Given the description of an element on the screen output the (x, y) to click on. 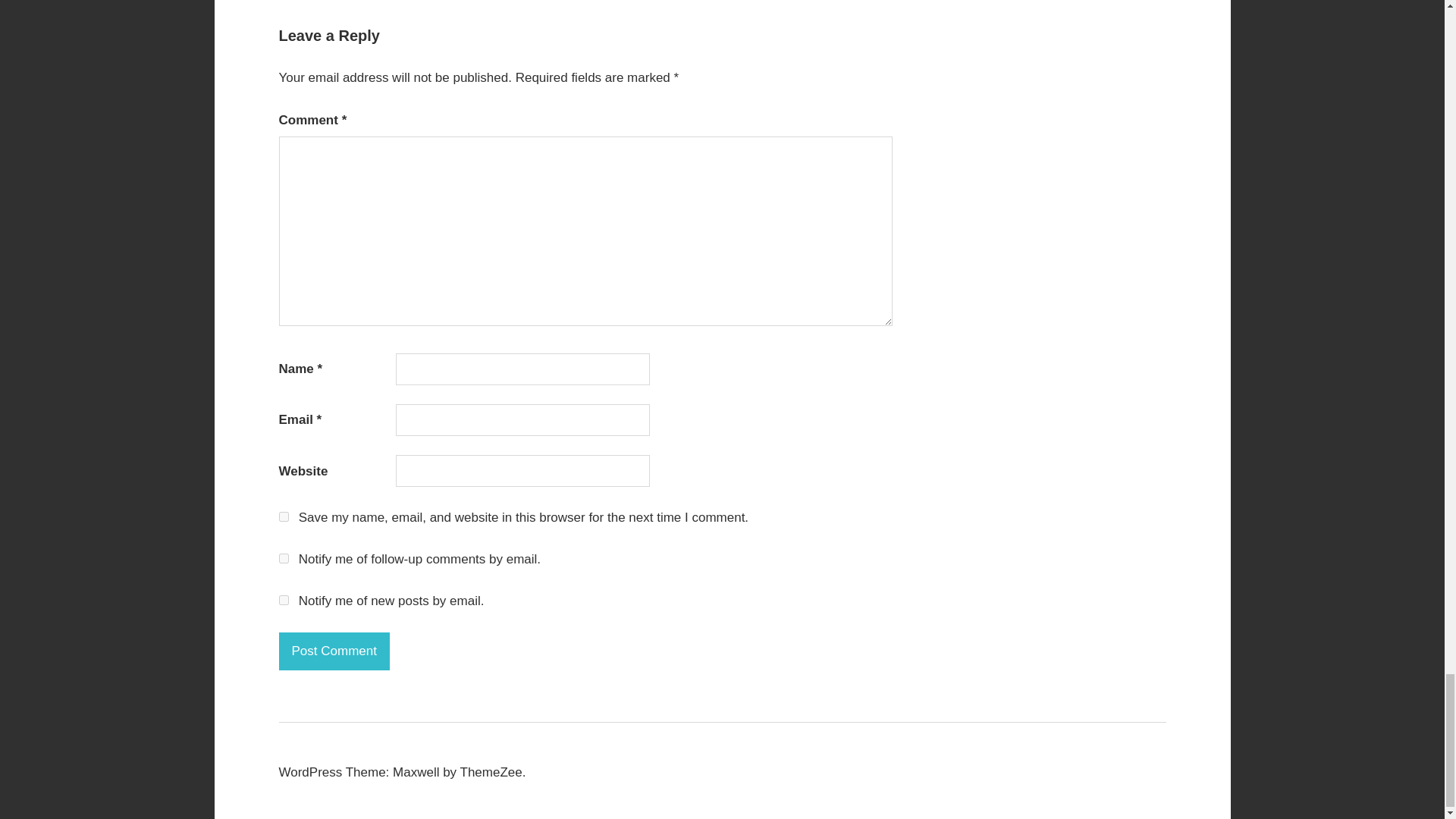
Post Comment (334, 651)
subscribe (283, 600)
Post Comment (334, 651)
subscribe (283, 558)
yes (283, 516)
